Given the description of an element on the screen output the (x, y) to click on. 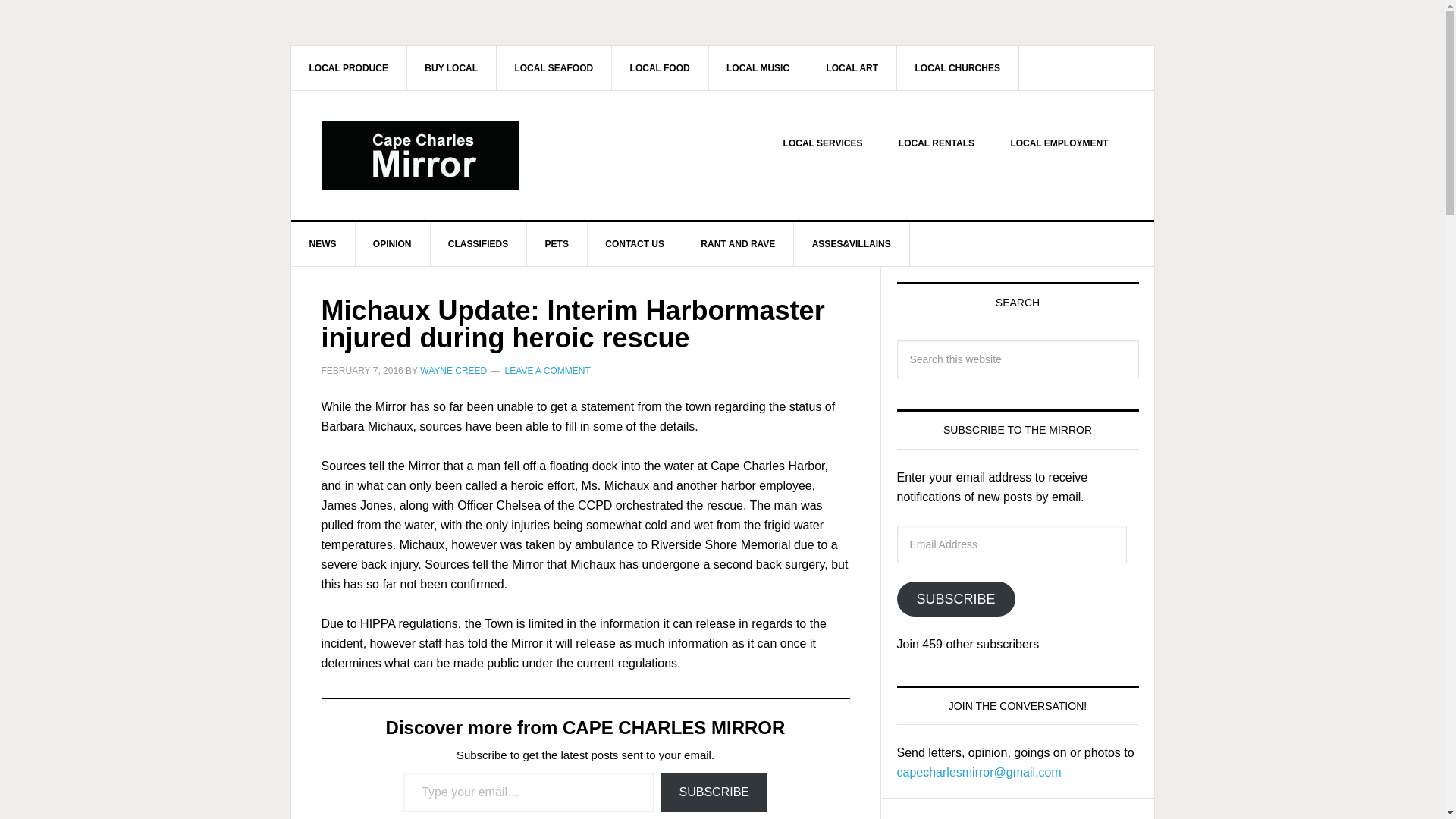
CAPE CHARLES MIRROR (419, 155)
LOCAL PRODUCE (349, 67)
LOCAL CHURCHES (956, 67)
LOCAL MUSIC (757, 67)
LOCAL SEAFOOD (553, 67)
WAYNE CREED (453, 370)
LOCAL EMPLOYMENT (1058, 143)
LEAVE A COMMENT (548, 370)
OPINION (392, 243)
